Given the description of an element on the screen output the (x, y) to click on. 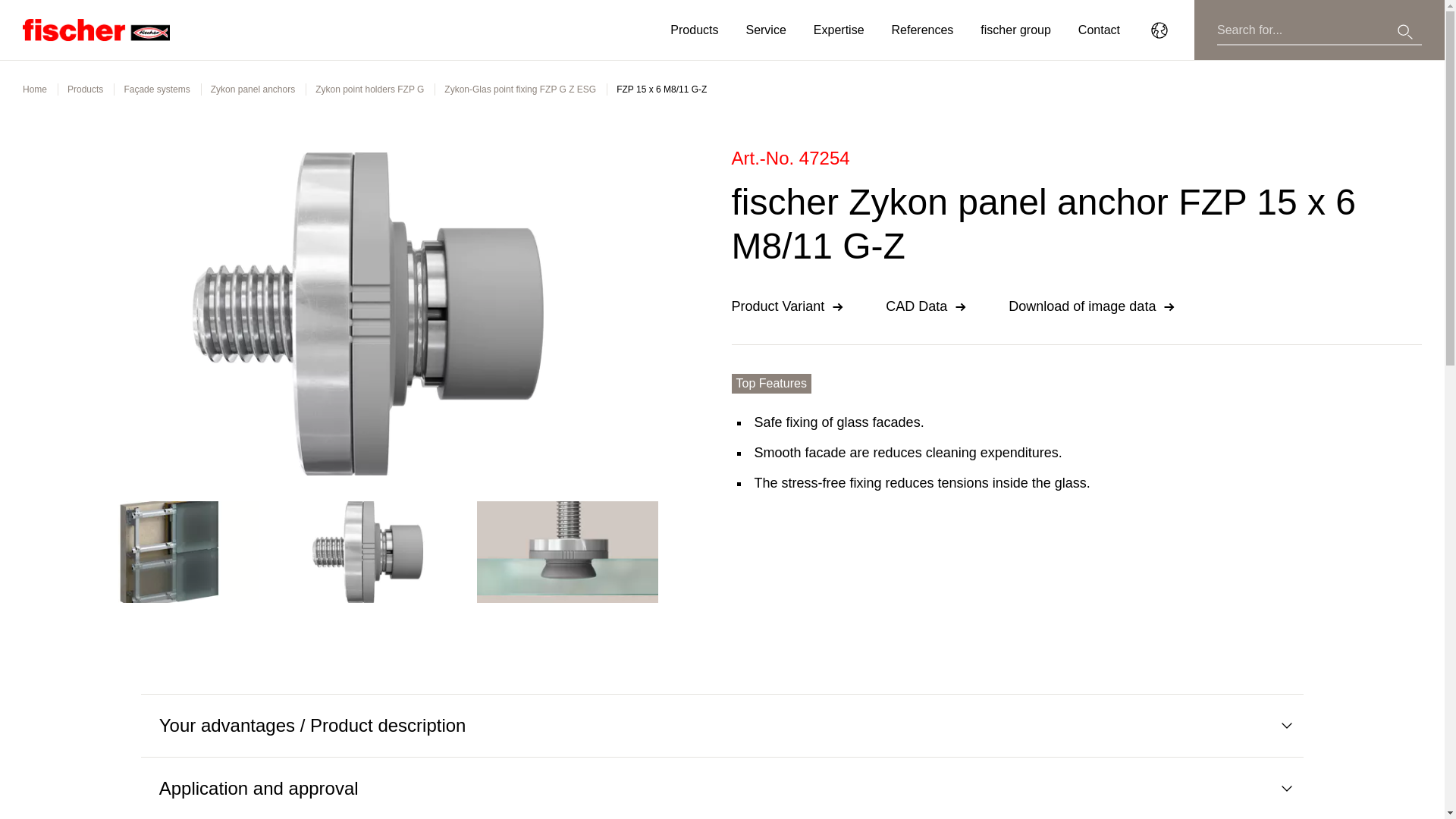
Home (34, 89)
CAD Data (928, 305)
References (922, 29)
Download of image data (1094, 305)
Zykon point holders FZP G (369, 89)
Zykon-Glas point fixing FZP G Z ESG (519, 89)
Zykon panel anchors (253, 89)
Products (84, 89)
Product Variant (789, 305)
